Given the description of an element on the screen output the (x, y) to click on. 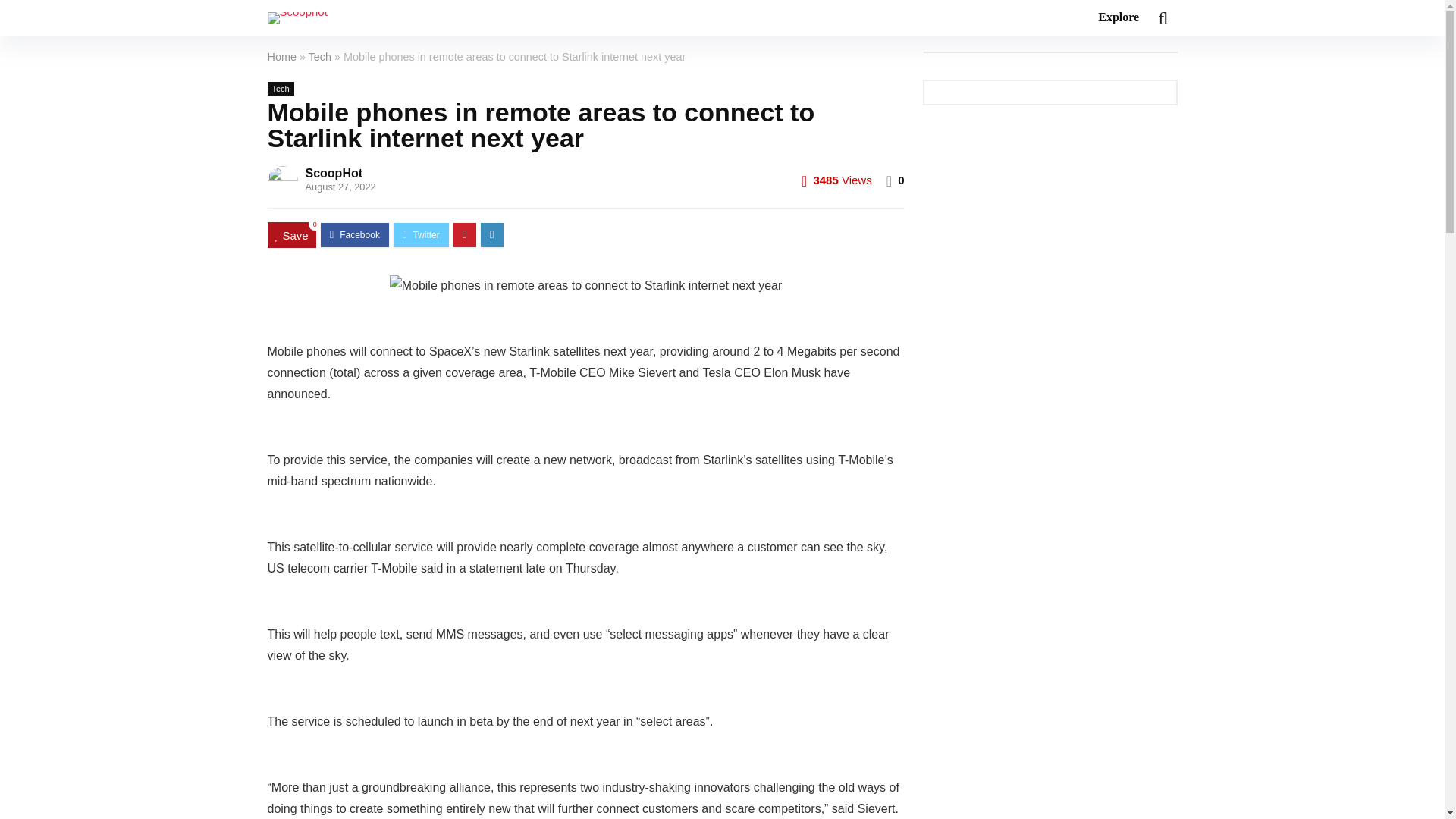
Tech (280, 88)
View all posts in Tech (280, 88)
ScoopHot (333, 173)
Explore (1117, 18)
Tech (319, 56)
Home (280, 56)
